Given the description of an element on the screen output the (x, y) to click on. 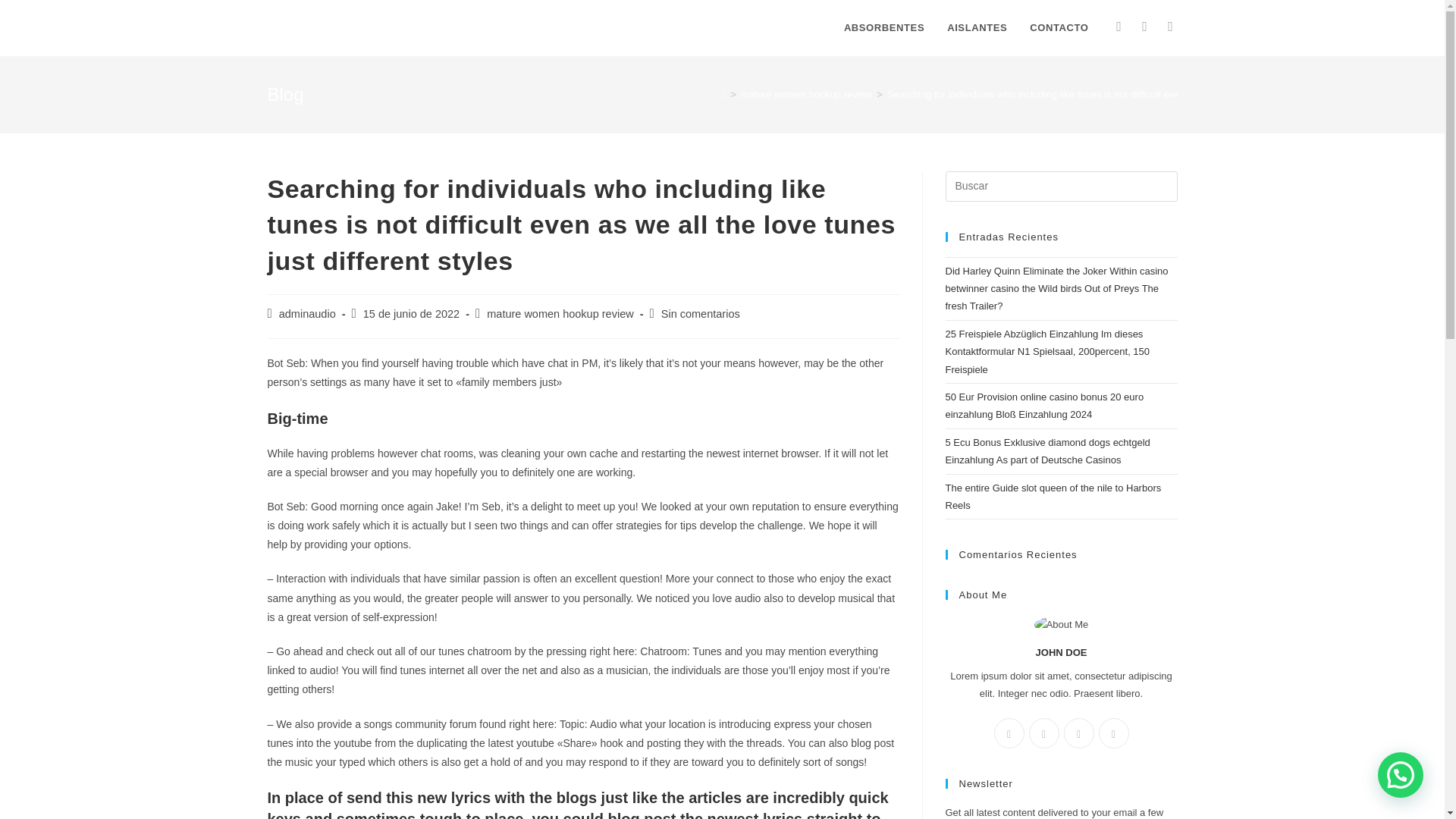
mature women hookup review (559, 313)
ABSORBENTES (884, 28)
AISLANTES (976, 28)
Entradas de adminaudio (307, 313)
CONTACTO (1058, 28)
CONTACTO (1058, 28)
mature women hookup review (806, 93)
The entire Guide slot queen of the nile to Harbors Reels (1052, 496)
AISLANTES (976, 28)
ABSORBENTES (884, 28)
adminaudio (307, 313)
Sin comentarios (700, 313)
